Given the description of an element on the screen output the (x, y) to click on. 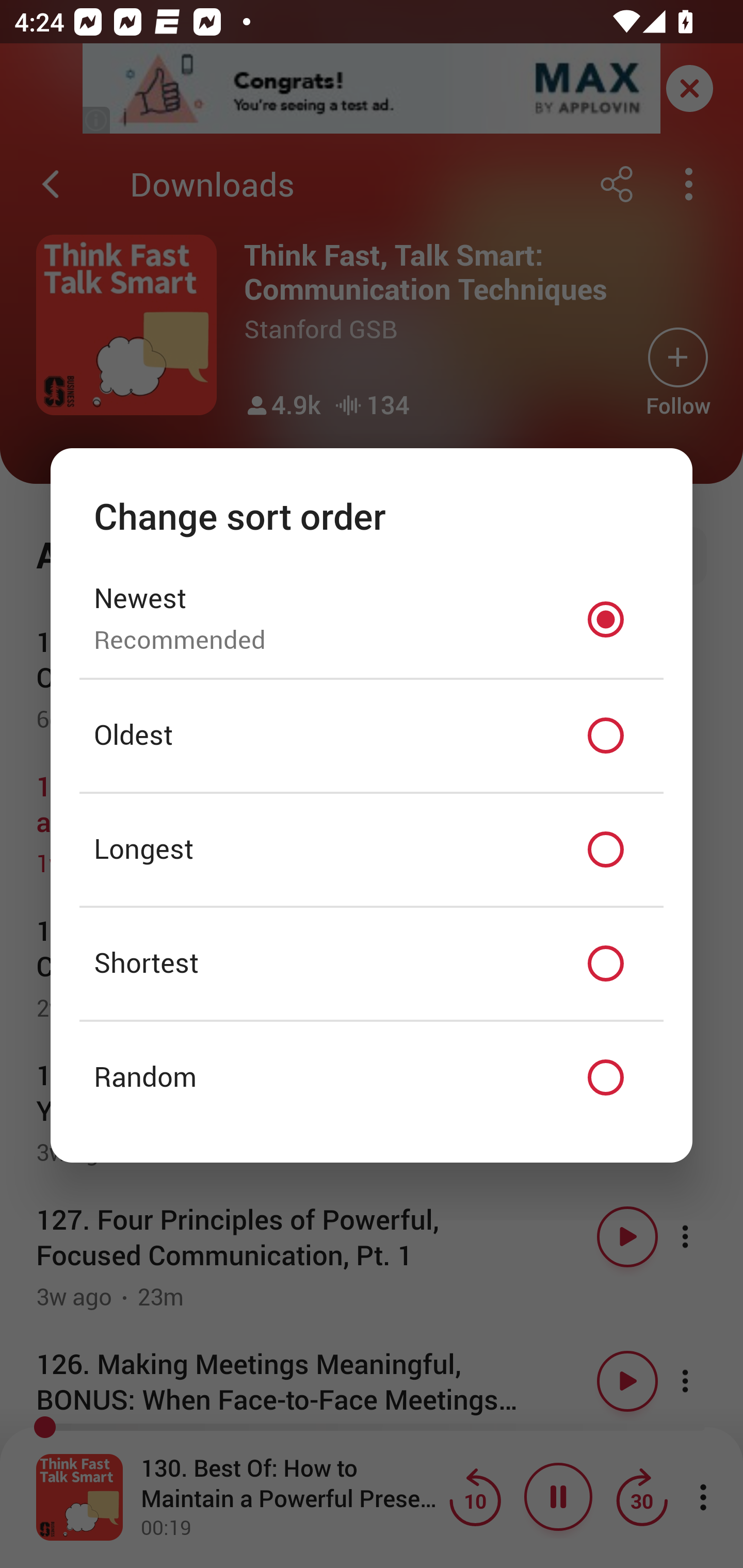
Newest Recommended (371, 619)
Oldest (371, 735)
Longest (371, 849)
Shortest (371, 963)
Random (371, 1077)
